Given the description of an element on the screen output the (x, y) to click on. 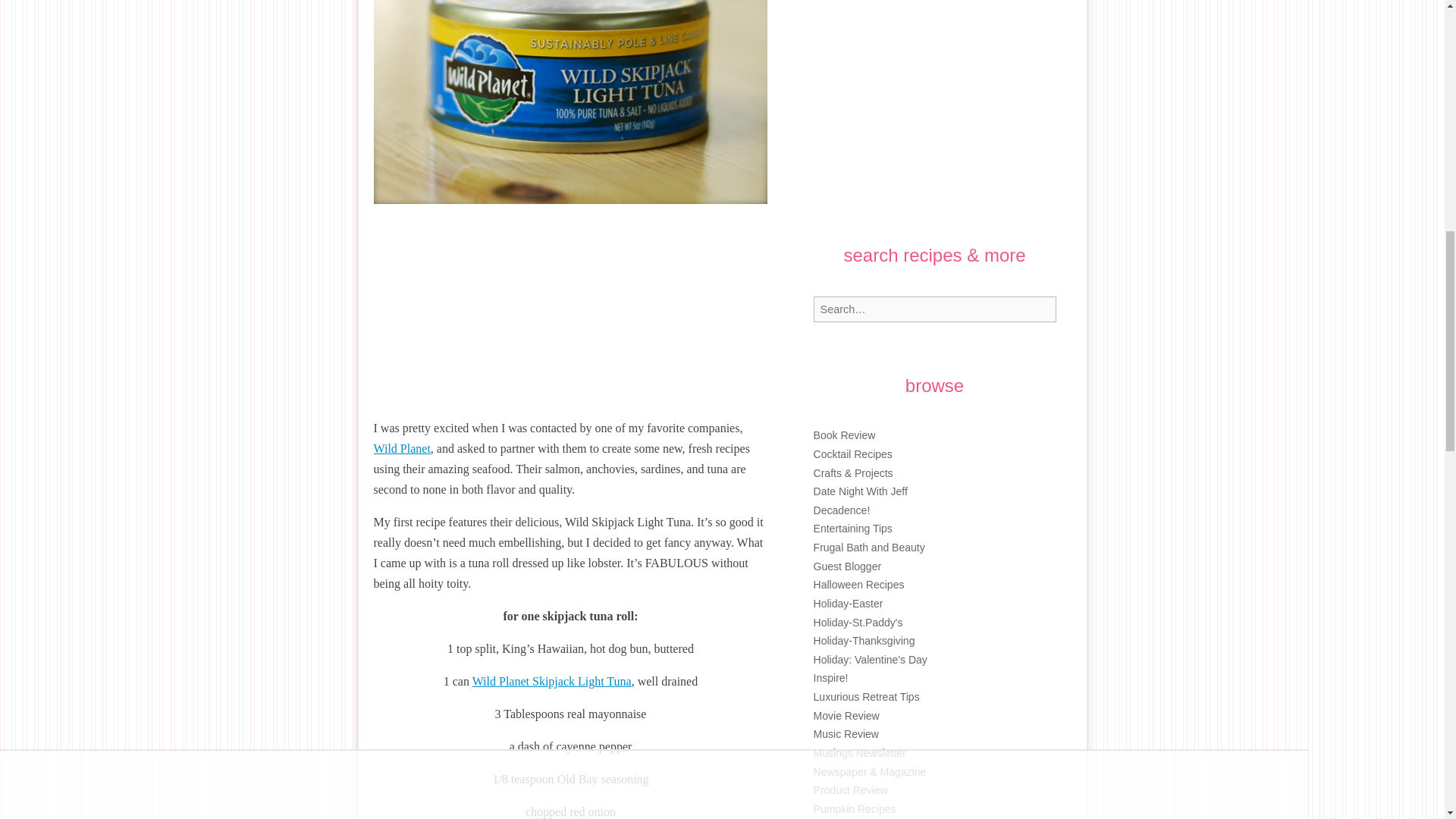
Cocktail Recipes (852, 453)
Wild Planet Skipjack Light Tuna (551, 680)
Frugal Bath and Beauty (868, 547)
Wild Planet (400, 448)
Decadence! (841, 510)
Date Night With Jeff (860, 491)
Entertaining Tips (852, 528)
Book Review (844, 435)
